Given the description of an element on the screen output the (x, y) to click on. 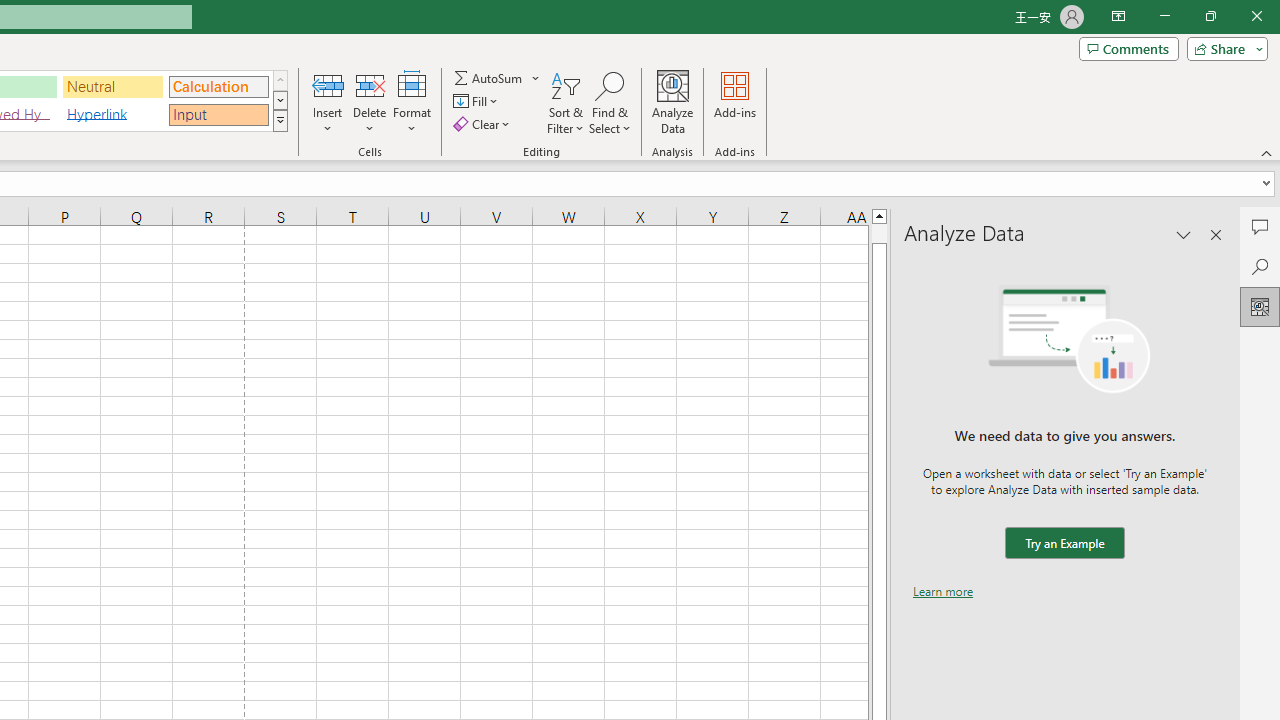
Delete Cells... (369, 84)
Cell Styles (280, 120)
Fill (477, 101)
